Given the description of an element on the screen output the (x, y) to click on. 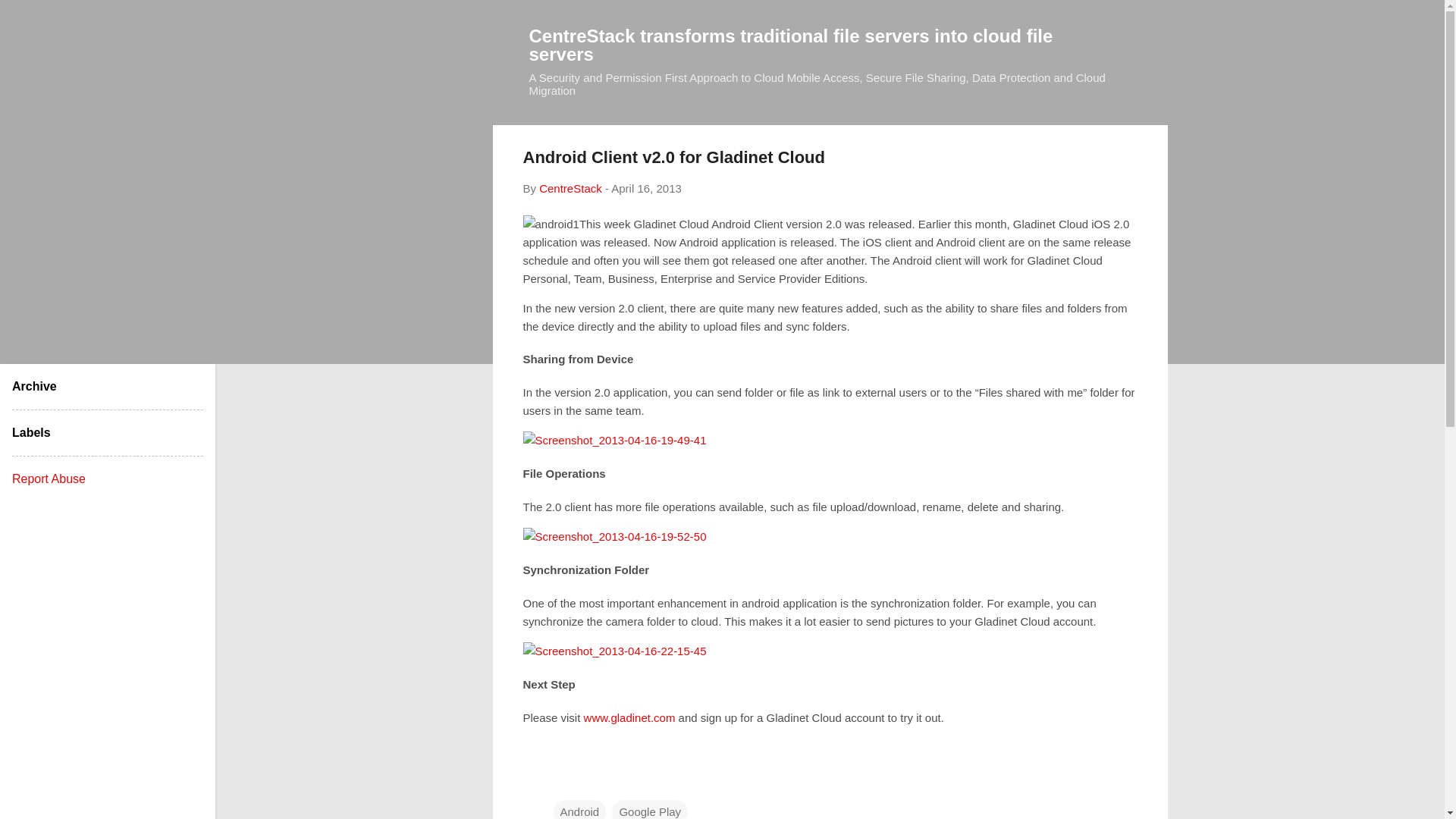
CentreStack (570, 187)
www.gladinet.com (629, 717)
author profile (570, 187)
Email Post (562, 780)
Google Play (649, 809)
permanent link (646, 187)
Search (29, 18)
Android (580, 809)
April 16, 2013 (646, 187)
